Given the description of an element on the screen output the (x, y) to click on. 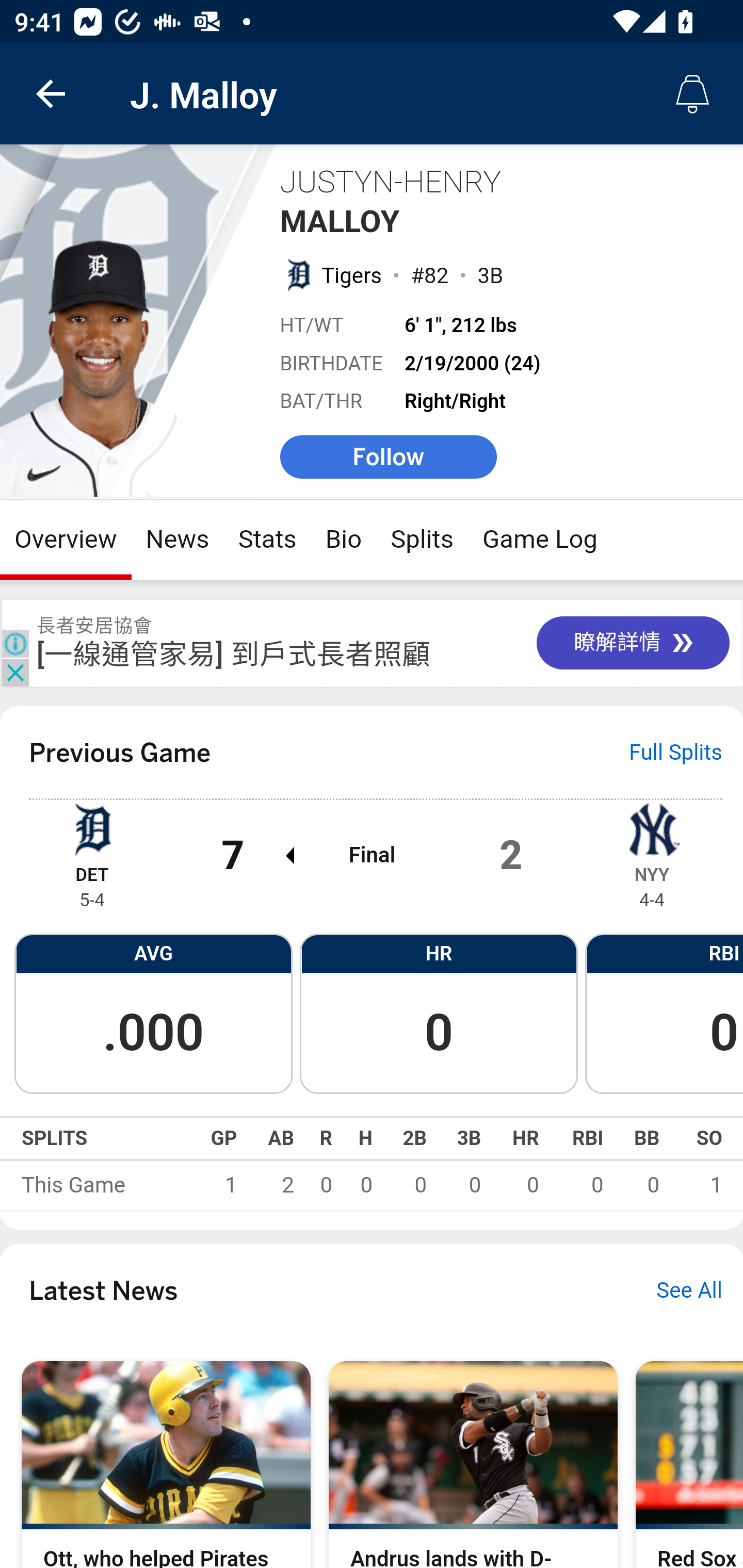
back.button (50, 93)
Alerts (692, 93)
Detroit Tigers (297, 274)
Tigers (351, 274)
Follow (387, 455)
Overview (65, 539)
News (177, 539)
Stats (267, 539)
Bio (343, 539)
Splits (422, 539)
Game Log (538, 539)
長者安居協會 (94, 624)
瞭解詳情 (632, 641)
[一線通管家易] 到戶式長者照顧 (233, 653)
Full Splits (675, 752)
Detroit Tigers (91, 828)
New York Yankees (651, 828)
AVG .000 HR 0 RBI 0 (371, 1012)
AVG .000 (153, 1012)
HR 0 (438, 1012)
RBI 0 (664, 1012)
See All (689, 1290)
